Given the description of an element on the screen output the (x, y) to click on. 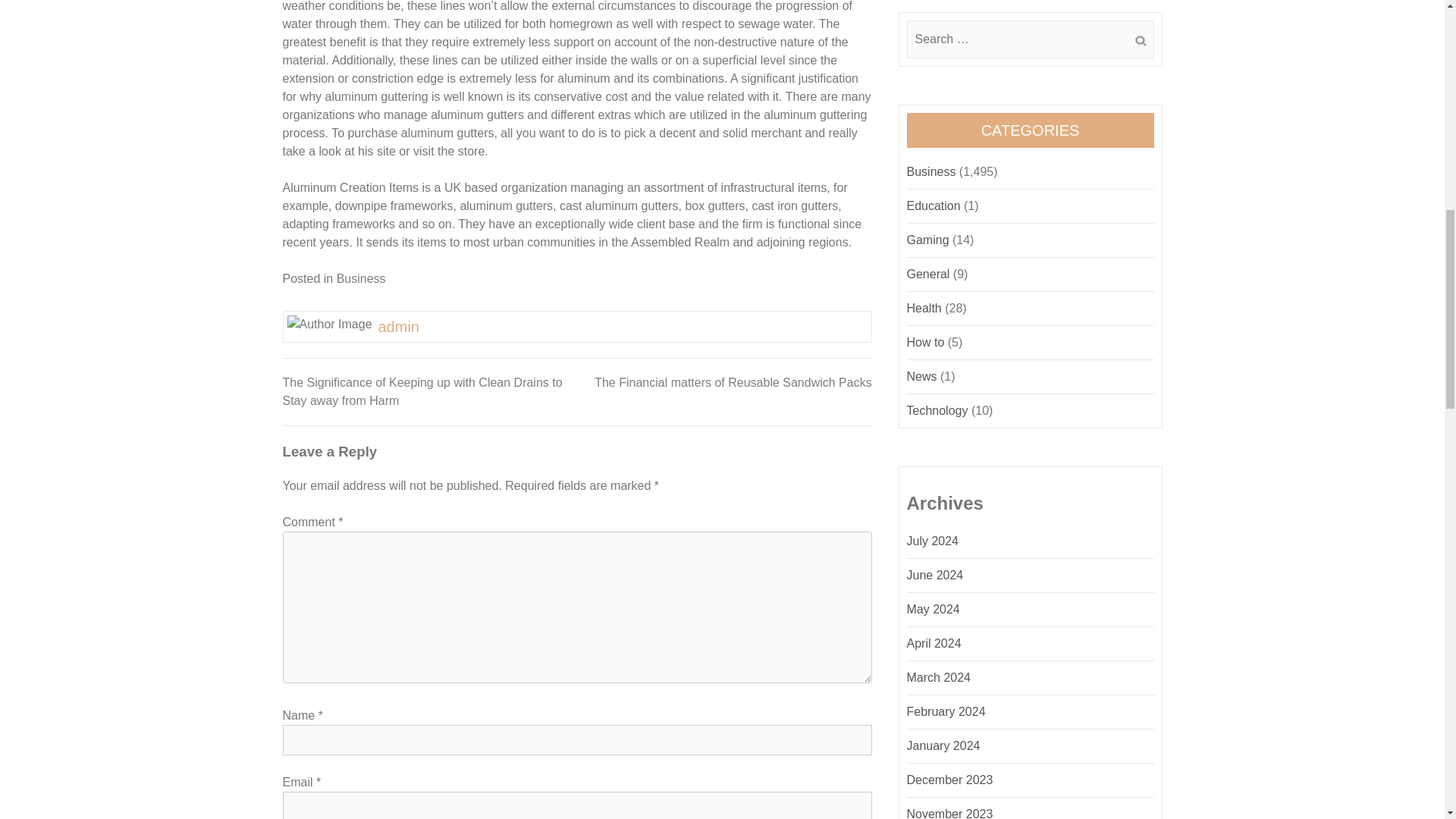
Business (931, 171)
Author Image (328, 324)
How to (925, 341)
Education (933, 205)
Search (1139, 41)
The Financial matters of Reusable Sandwich Packs (733, 382)
General (928, 273)
Search (1139, 41)
Search (1139, 41)
Gaming (928, 239)
Business (360, 278)
Health (924, 308)
